Given the description of an element on the screen output the (x, y) to click on. 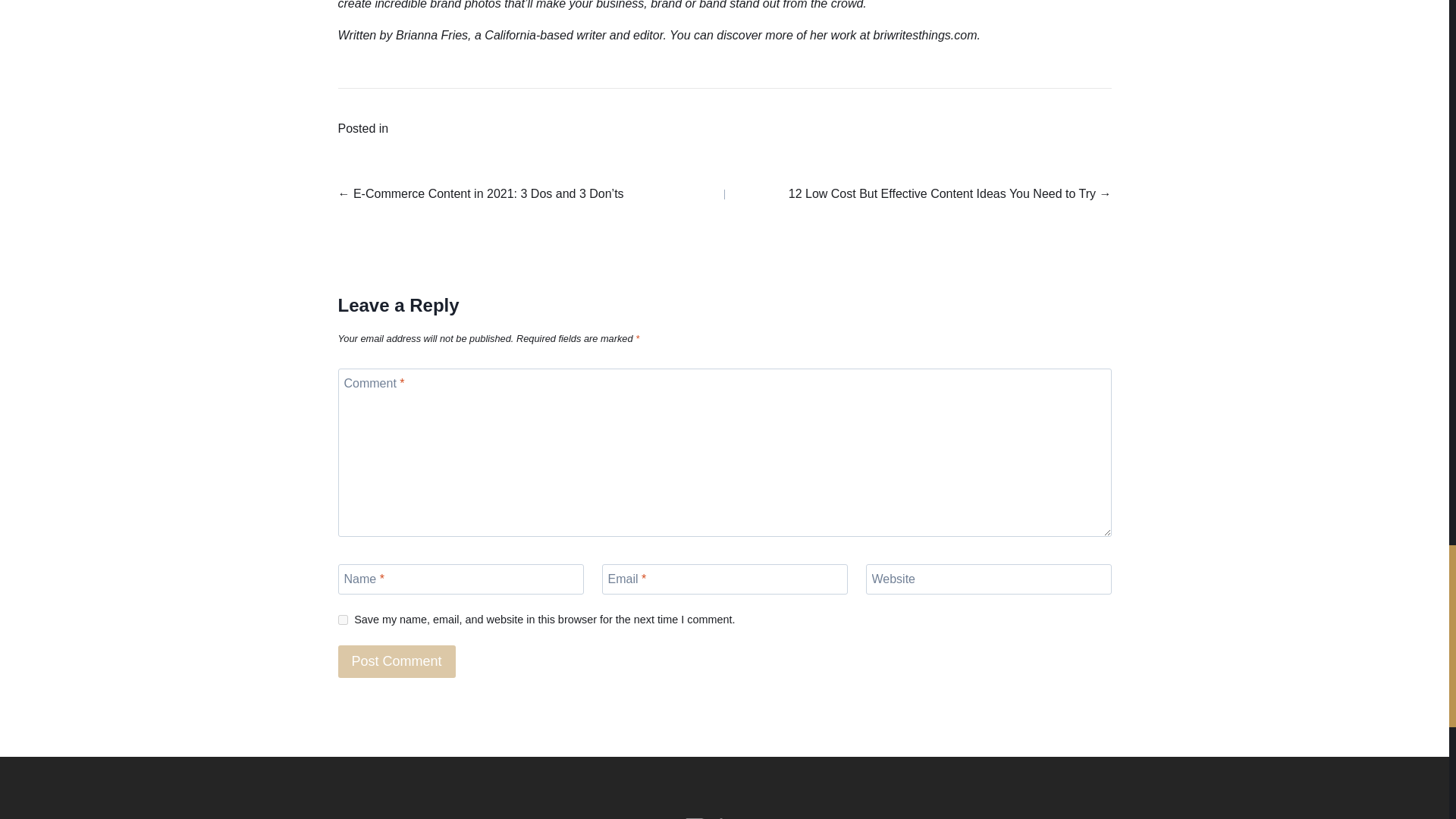
Post Comment (396, 661)
yes (342, 619)
Post Comment (396, 661)
